Given the description of an element on the screen output the (x, y) to click on. 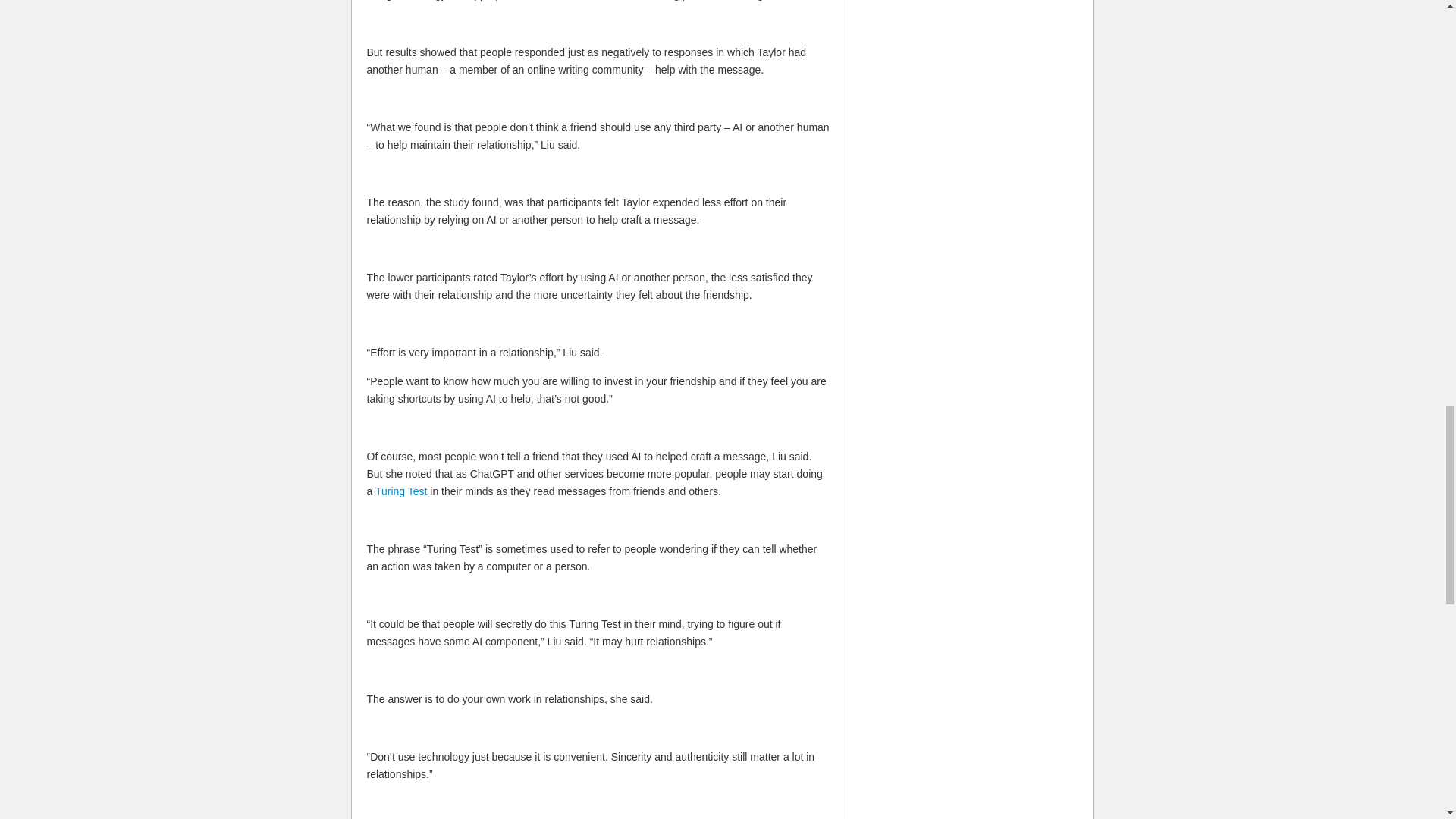
Turing Test (400, 491)
